Given the description of an element on the screen output the (x, y) to click on. 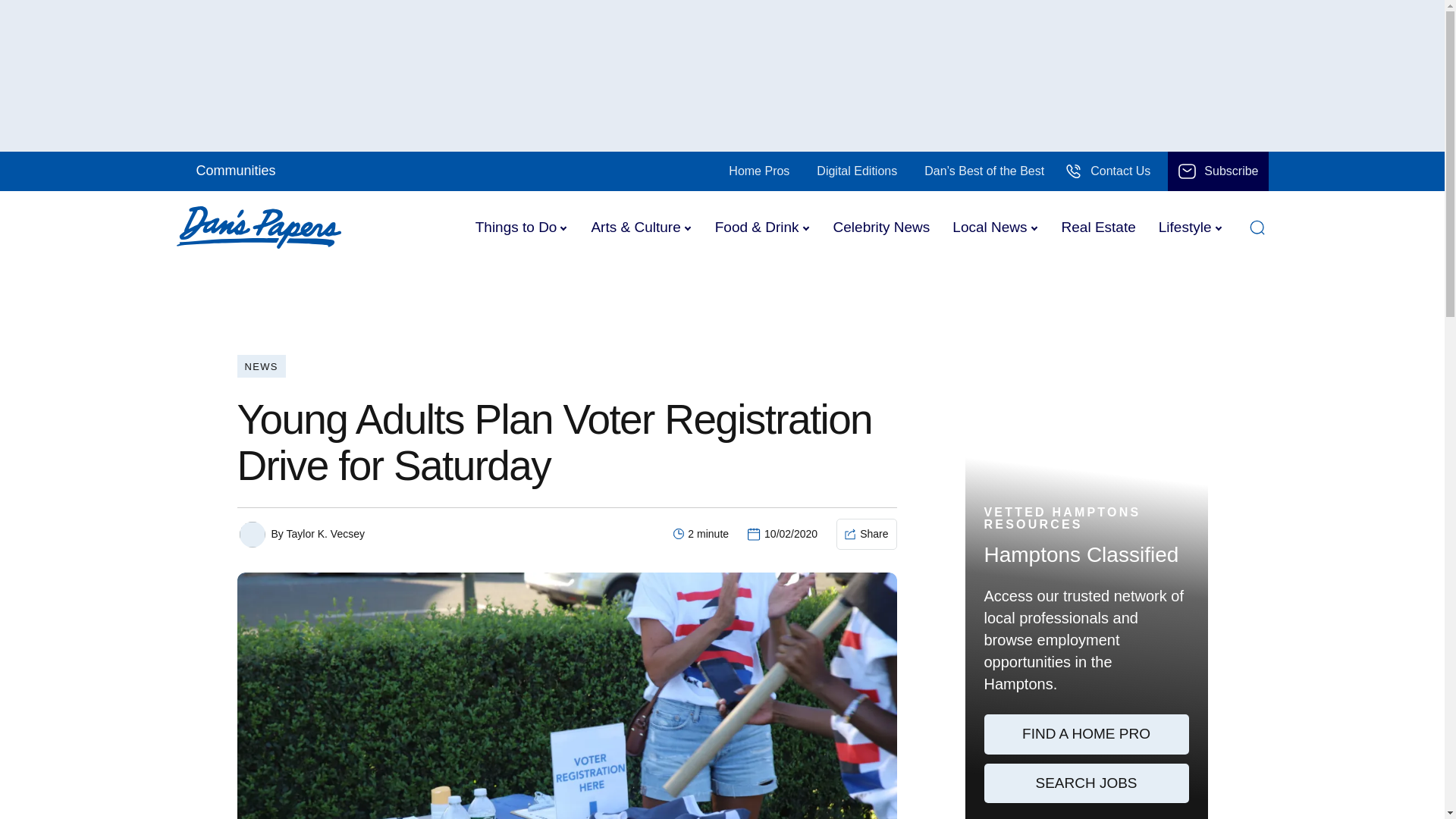
Subscribe (1217, 170)
Home Pros (759, 170)
Communities (232, 170)
Contact Us (1107, 170)
Things to Do (516, 227)
Digital Editions (856, 170)
Posts by Taylor K. Vecsey (325, 533)
